Given the description of an element on the screen output the (x, y) to click on. 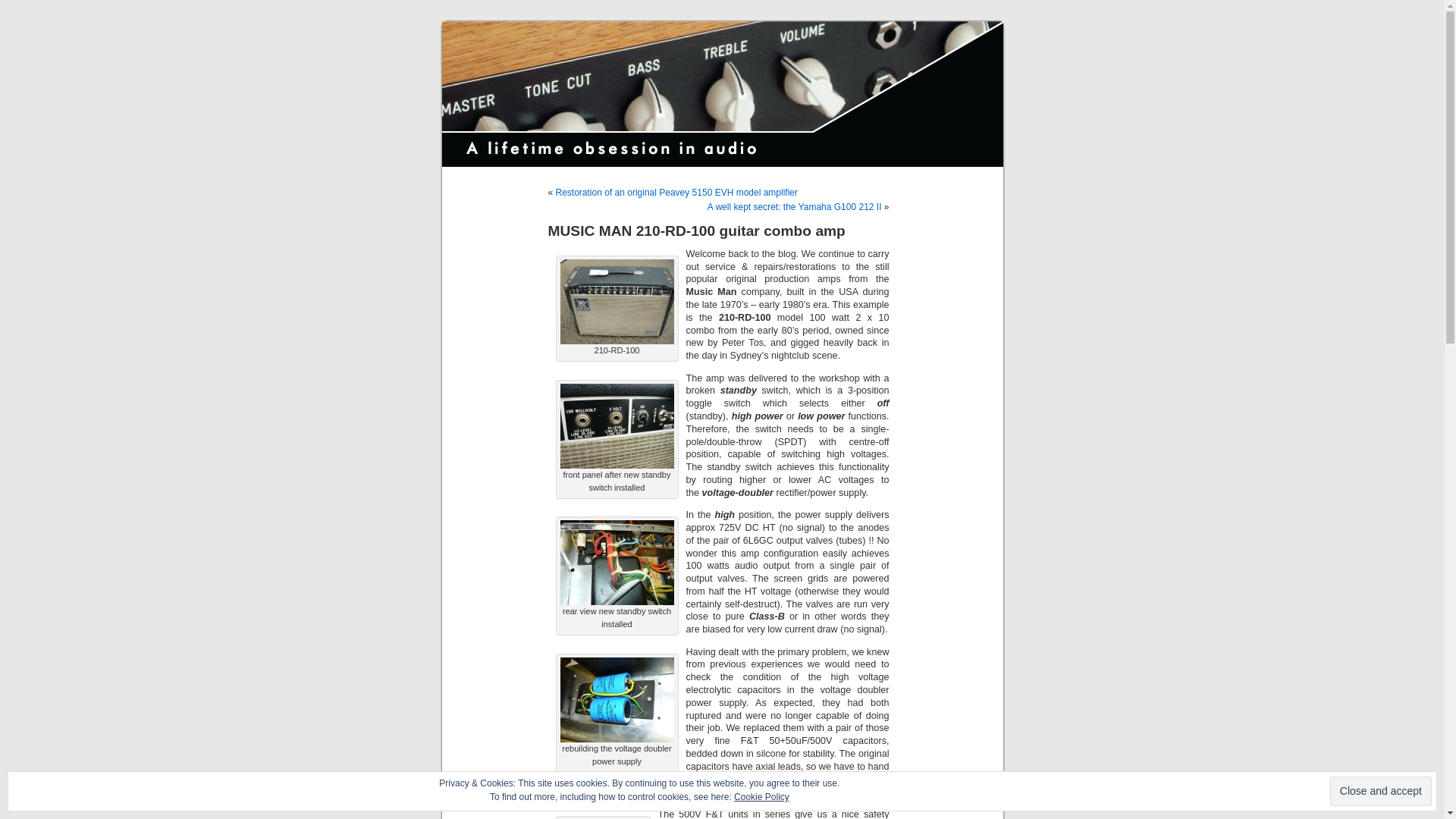
Comment Element type: text (1300, 797)
Cookie Policy Element type: text (761, 796)
Close and accept Element type: text (1380, 791)
Follow Element type: text (1375, 797)
Restoration of an original Peavey 5150 EVH model amplifier Element type: text (676, 192)
A well kept secret: the Yamaha G100 212 II Element type: text (794, 206)
